Given the description of an element on the screen output the (x, y) to click on. 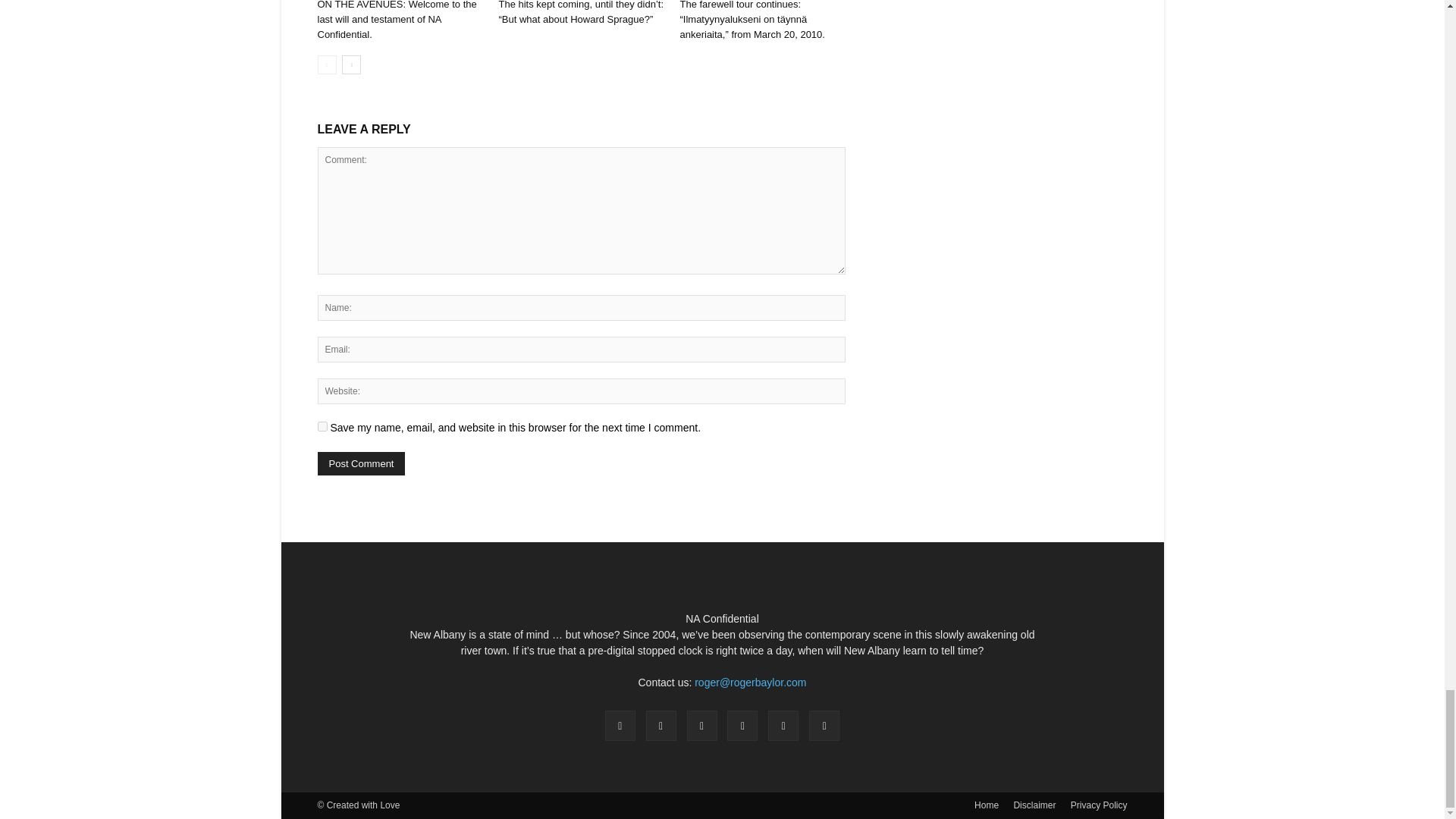
yes (321, 426)
Post Comment (360, 463)
